Given the description of an element on the screen output the (x, y) to click on. 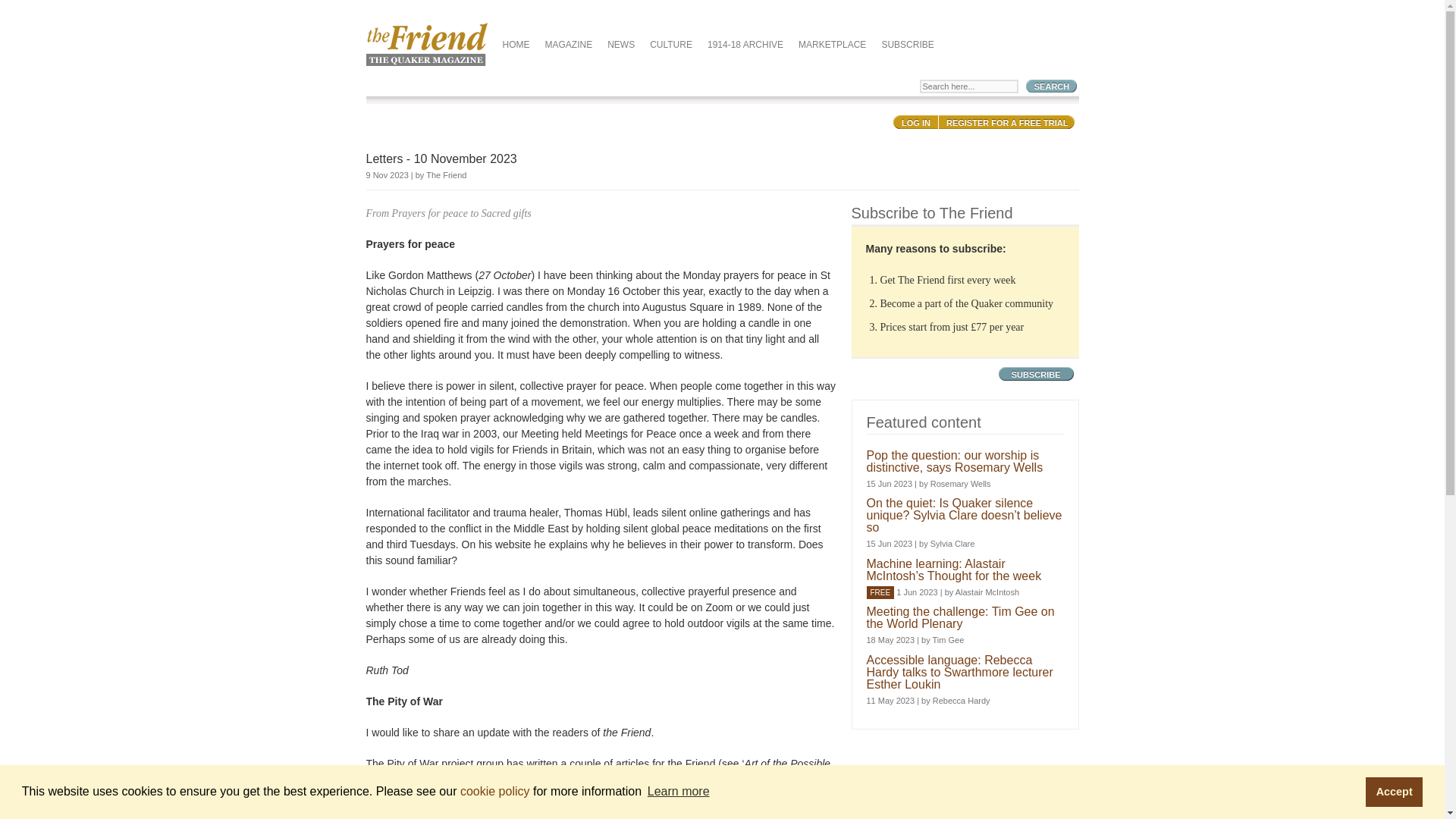
MAGAZINE (568, 46)
cookie policy (494, 790)
NEWS (620, 46)
1914-18 ARCHIVE (745, 46)
Meeting the challenge: Tim Gee on the World Plenary (960, 617)
SUBSCRIBE (1035, 374)
MARKETPLACE (831, 46)
REGISTER FOR A FREE TRIAL (1006, 122)
SEARCH (1051, 85)
CULTURE (671, 46)
Learn more (678, 791)
LOG IN (916, 122)
Accept (1393, 791)
